Given the description of an element on the screen output the (x, y) to click on. 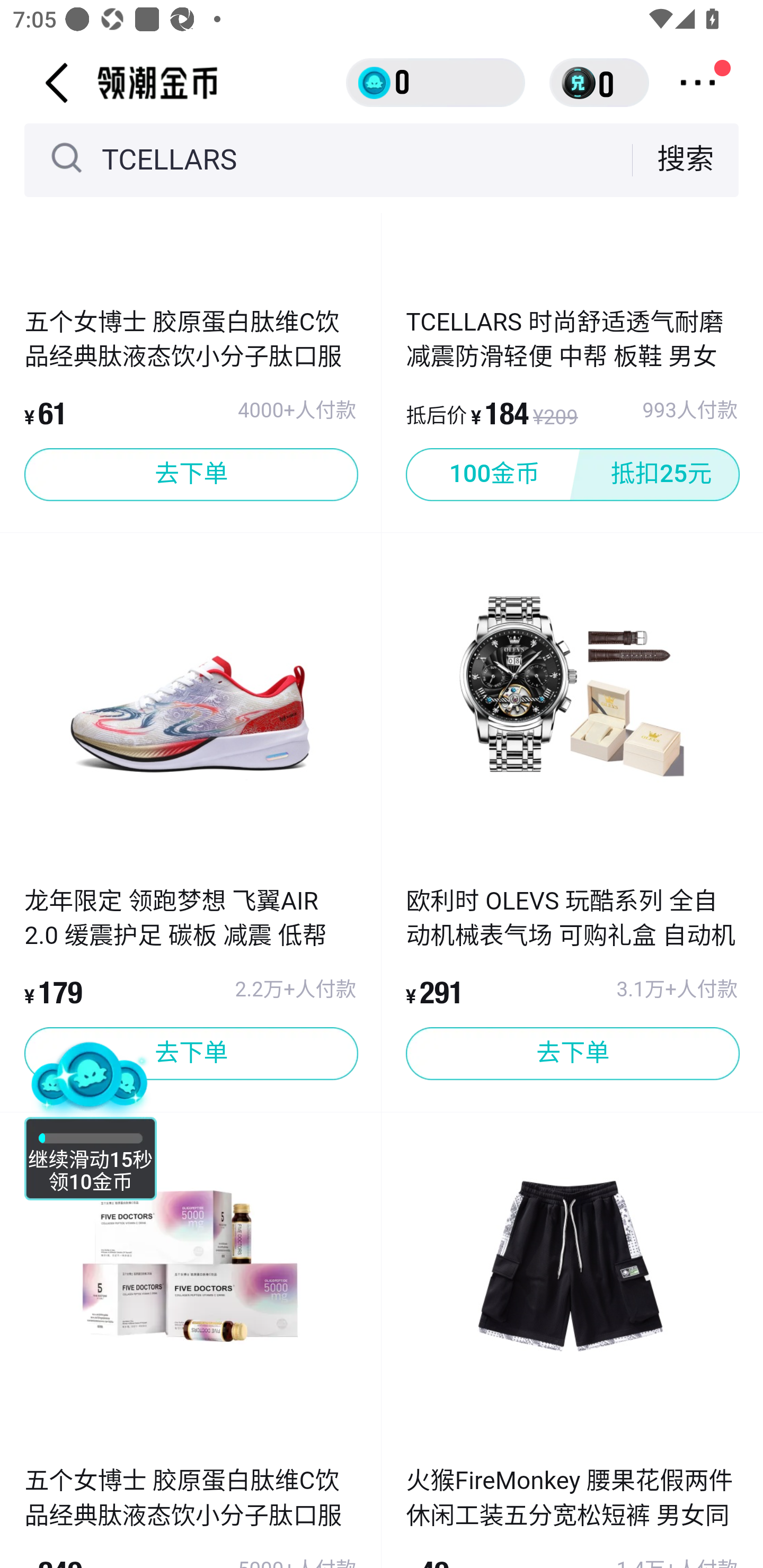
搜索 (685, 159)
去下单 (190, 473)
100金币 抵扣25元 (572, 473)
去下单 (190, 1053)
去下单 (572, 1053)
